Given the description of an element on the screen output the (x, y) to click on. 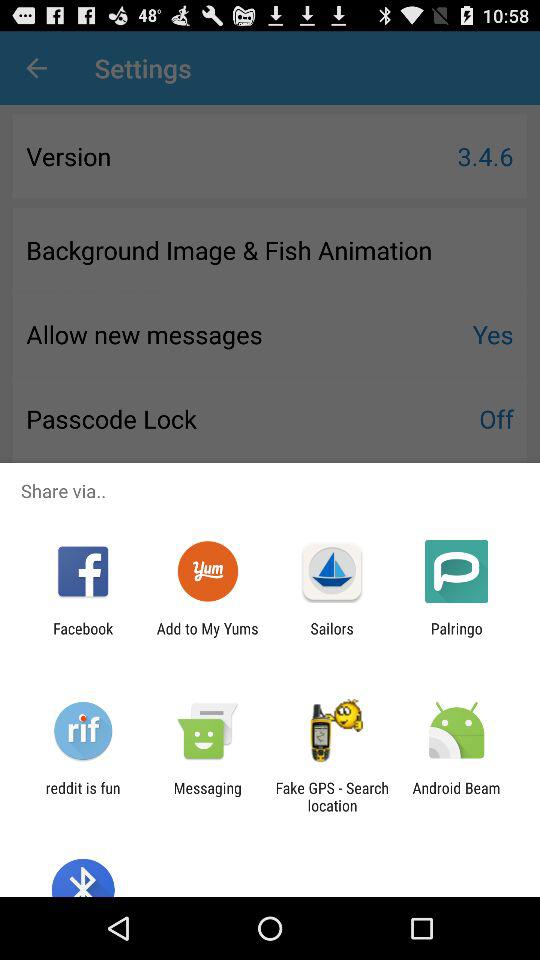
tap reddit is fun icon (82, 796)
